Given the description of an element on the screen output the (x, y) to click on. 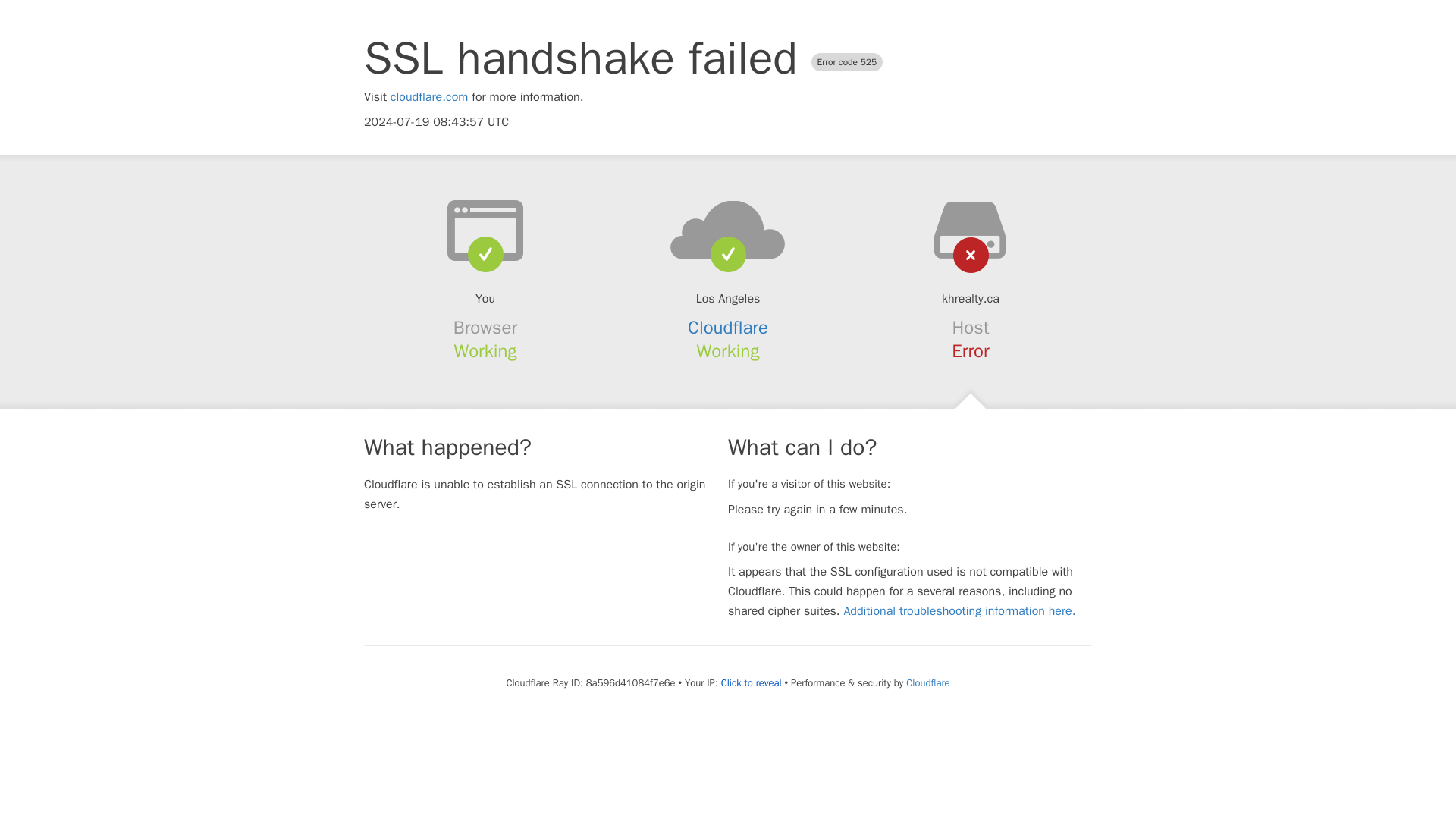
Cloudflare (927, 682)
Additional troubleshooting information here. (959, 611)
Click to reveal (750, 683)
Cloudflare (727, 327)
cloudflare.com (429, 96)
